Given the description of an element on the screen output the (x, y) to click on. 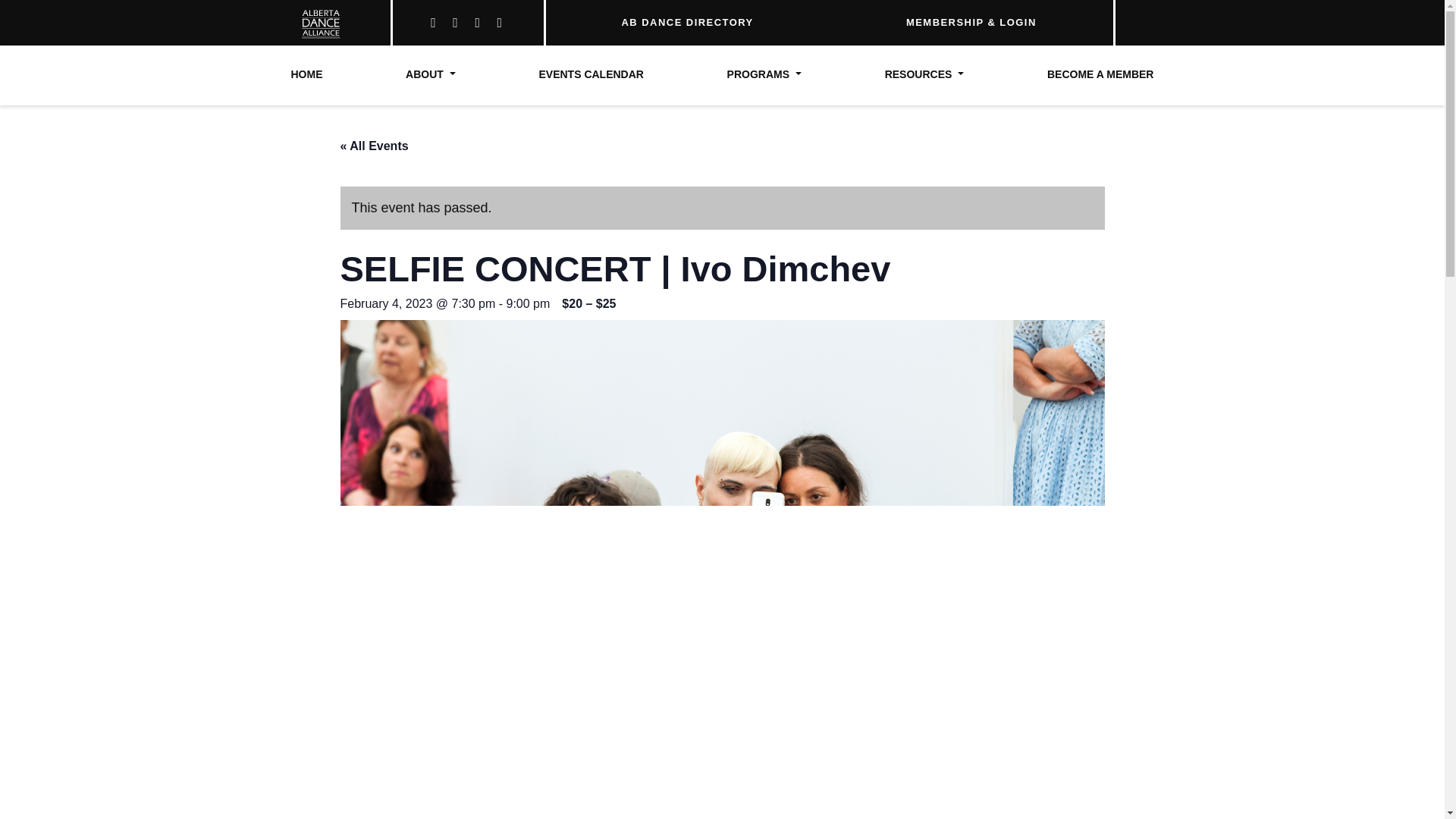
Events Calendar (590, 75)
About (430, 75)
ABOUT (430, 75)
Search (1098, 17)
HOME (307, 75)
Home (307, 75)
RESOURCES (924, 75)
Search (1098, 17)
Alberta Dance Alliance (315, 22)
BECOME A MEMBER (1100, 75)
